Given the description of an element on the screen output the (x, y) to click on. 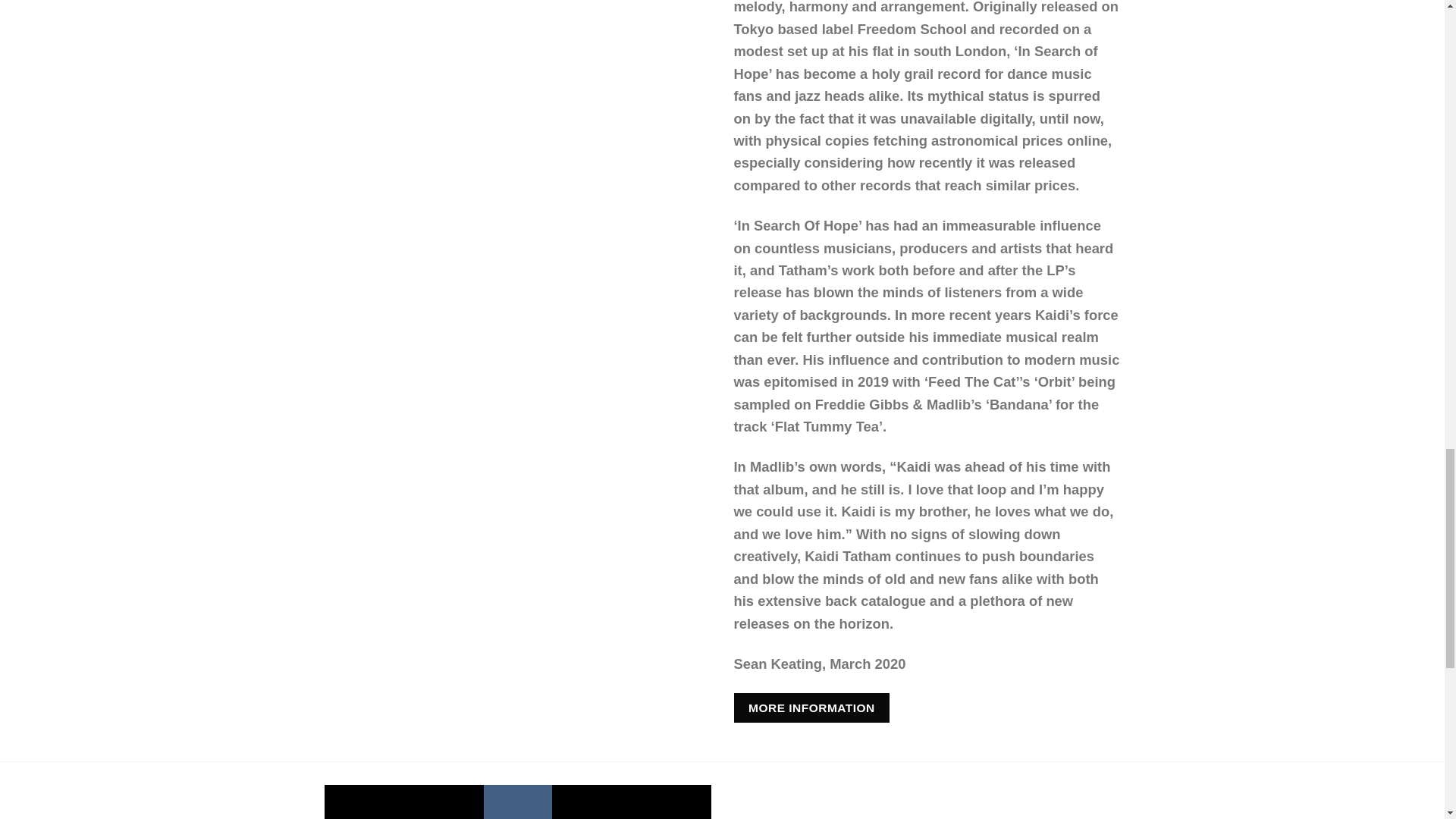
MORE INFORMATION (811, 707)
